Given the description of an element on the screen output the (x, y) to click on. 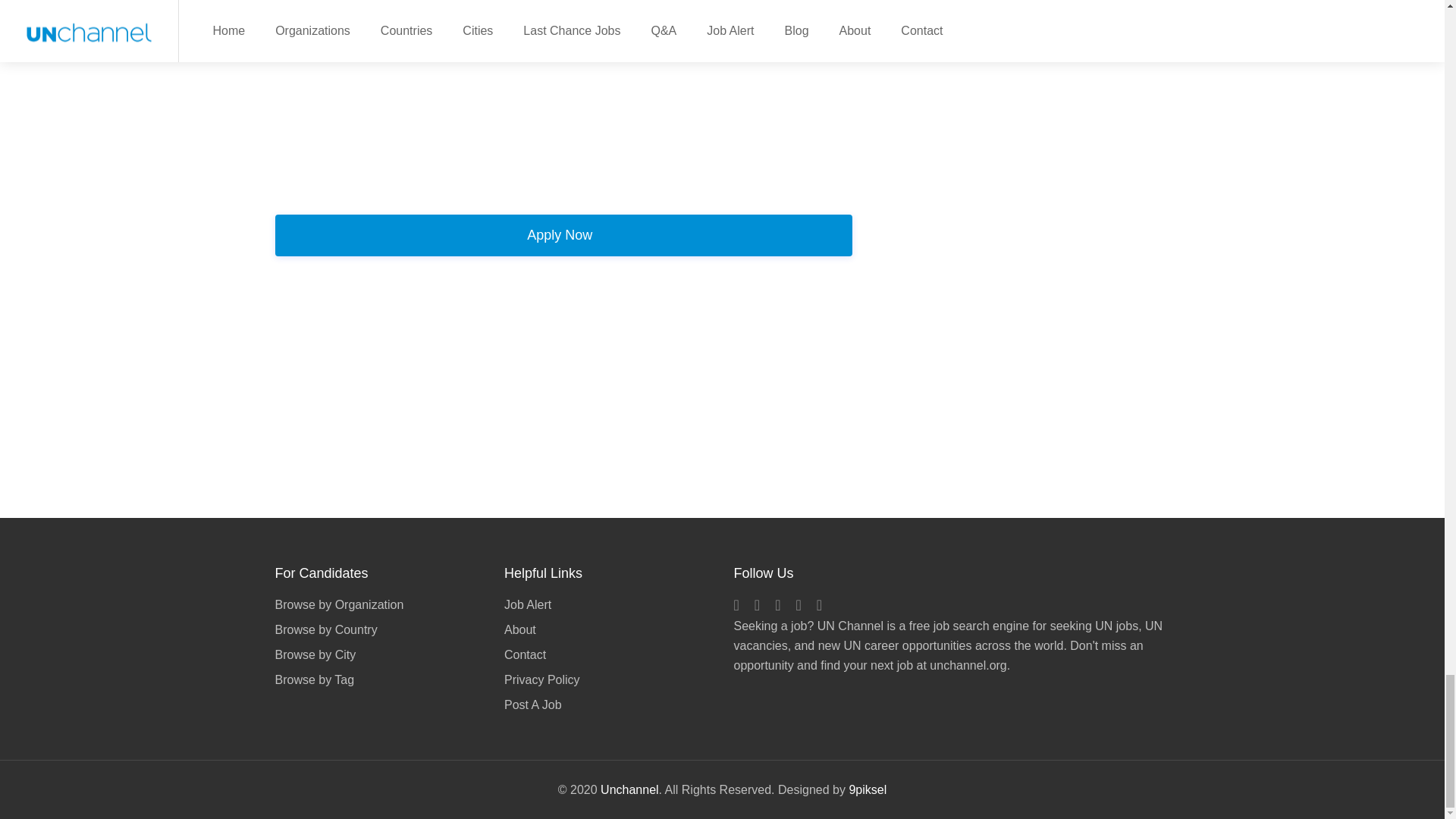
Apply Now (563, 235)
